Given the description of an element on the screen output the (x, y) to click on. 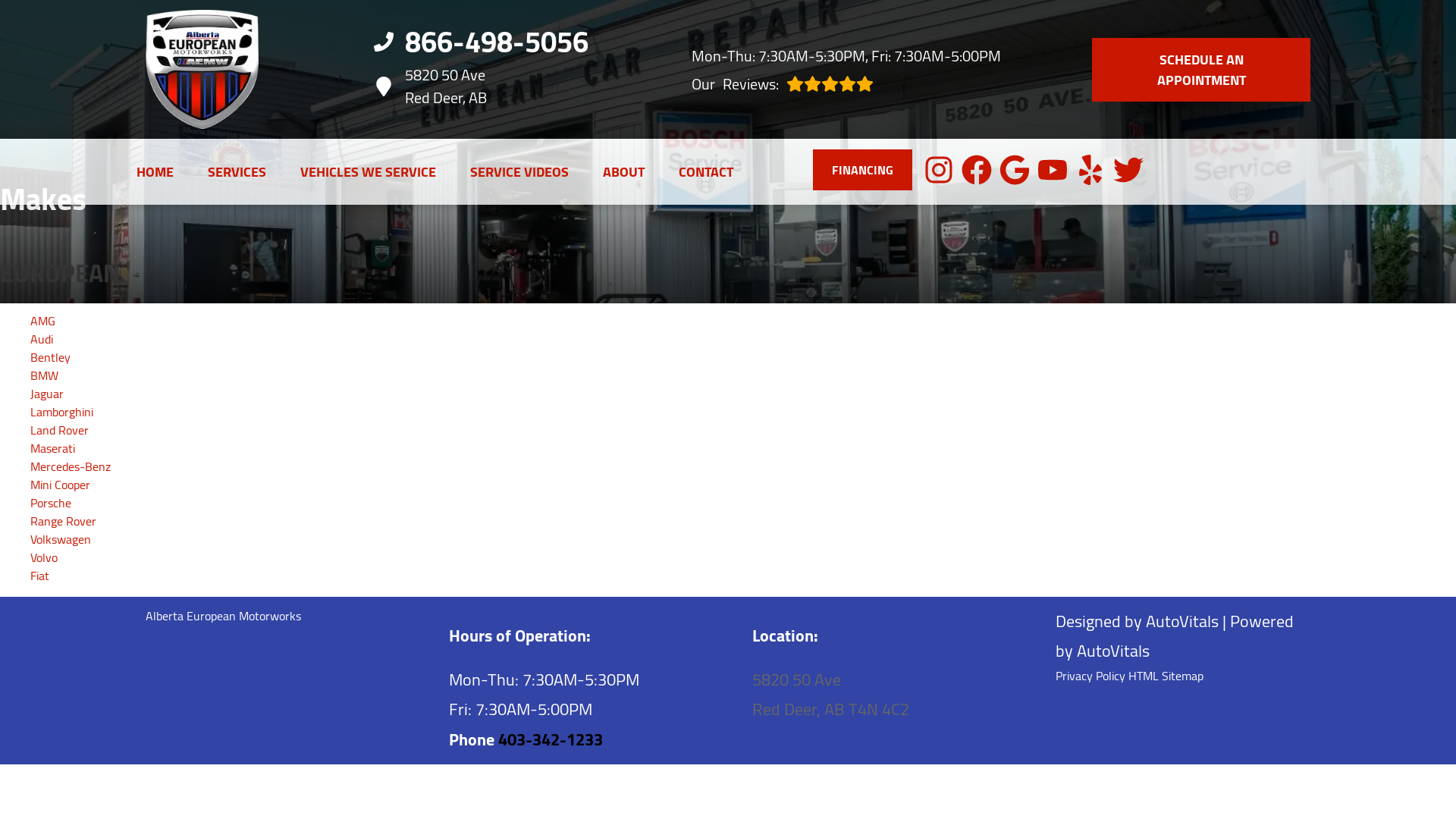
SERVICES (237, 171)
SCHEDULE AN APPOINTMENT (1201, 69)
Make an Appointment (1201, 69)
HOME (154, 171)
Our Reviews (846, 83)
Home (486, 85)
866-498-5056   (846, 83)
Call Alberta European Motorworks (154, 171)
